Given the description of an element on the screen output the (x, y) to click on. 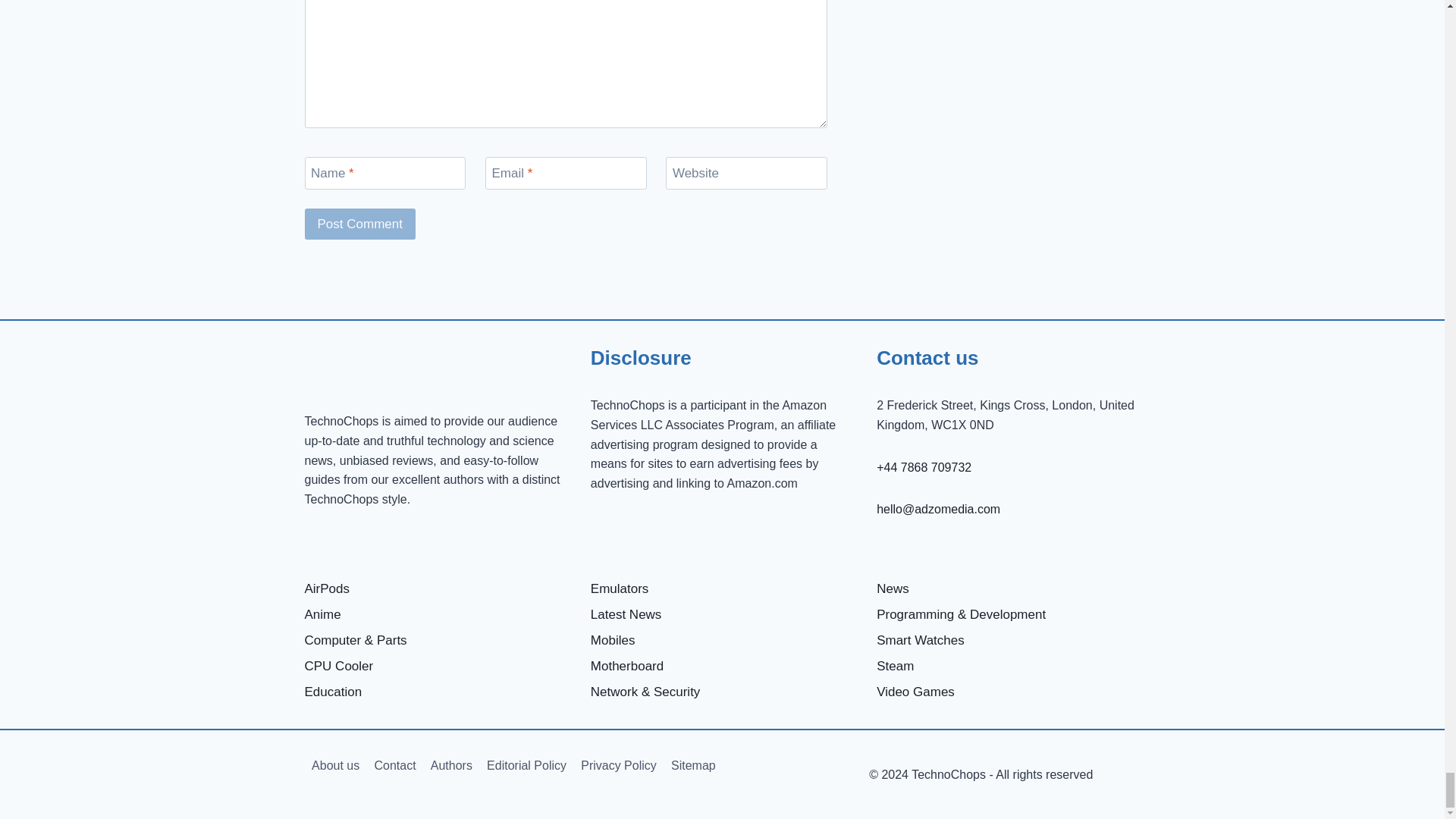
Post Comment (359, 223)
